Given the description of an element on the screen output the (x, y) to click on. 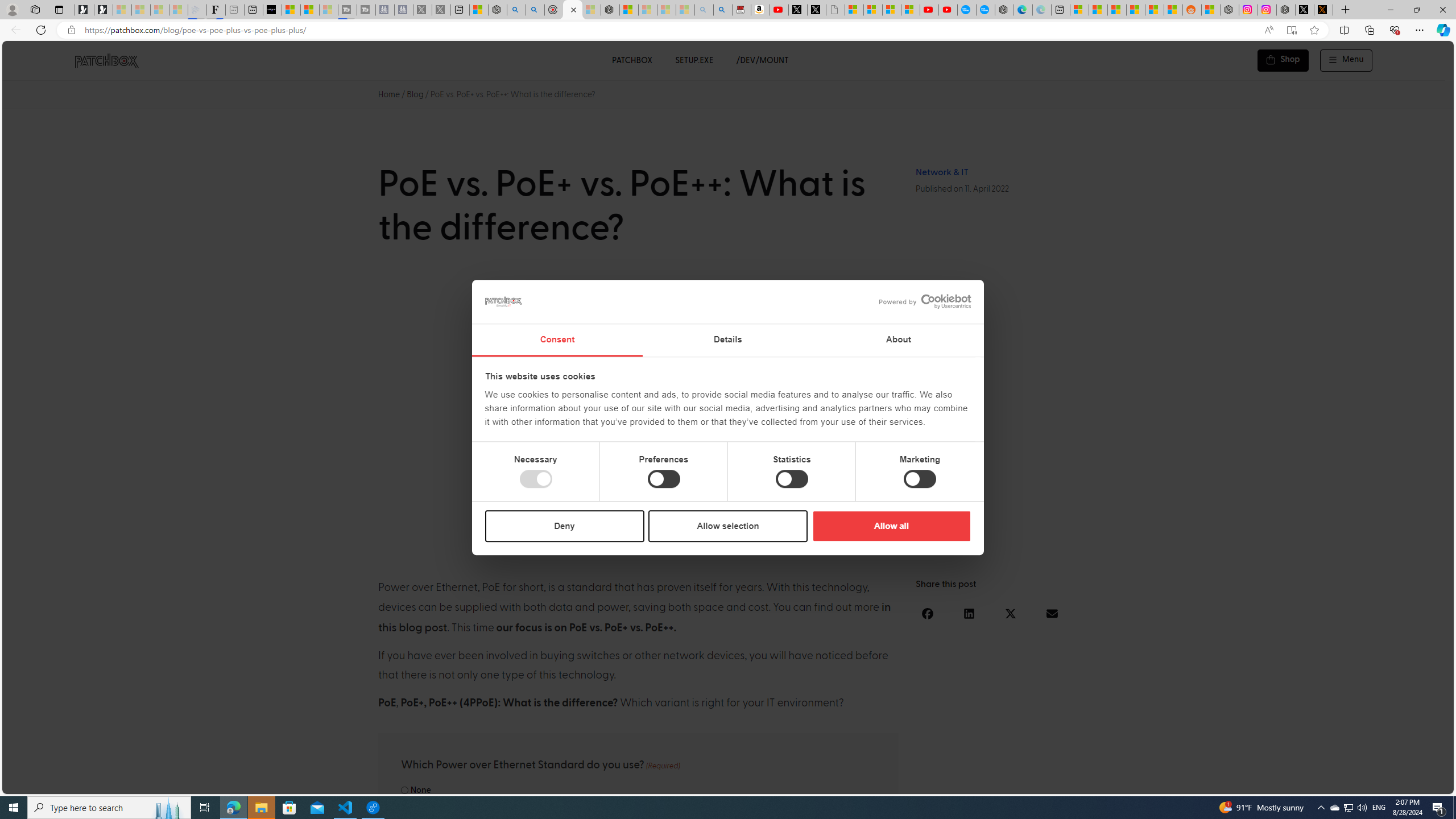
Details (727, 340)
in this blog post (634, 617)
help.x.com | 524: A timeout occurred (1323, 9)
Statistics (791, 479)
Language switcher : Klingon (1425, 782)
What's the best AI voice generator? - voice.ai (271, 9)
Microsoft account | Microsoft Account Privacy Settings (1079, 9)
Deny (564, 525)
Shop (1282, 60)
